Given the description of an element on the screen output the (x, y) to click on. 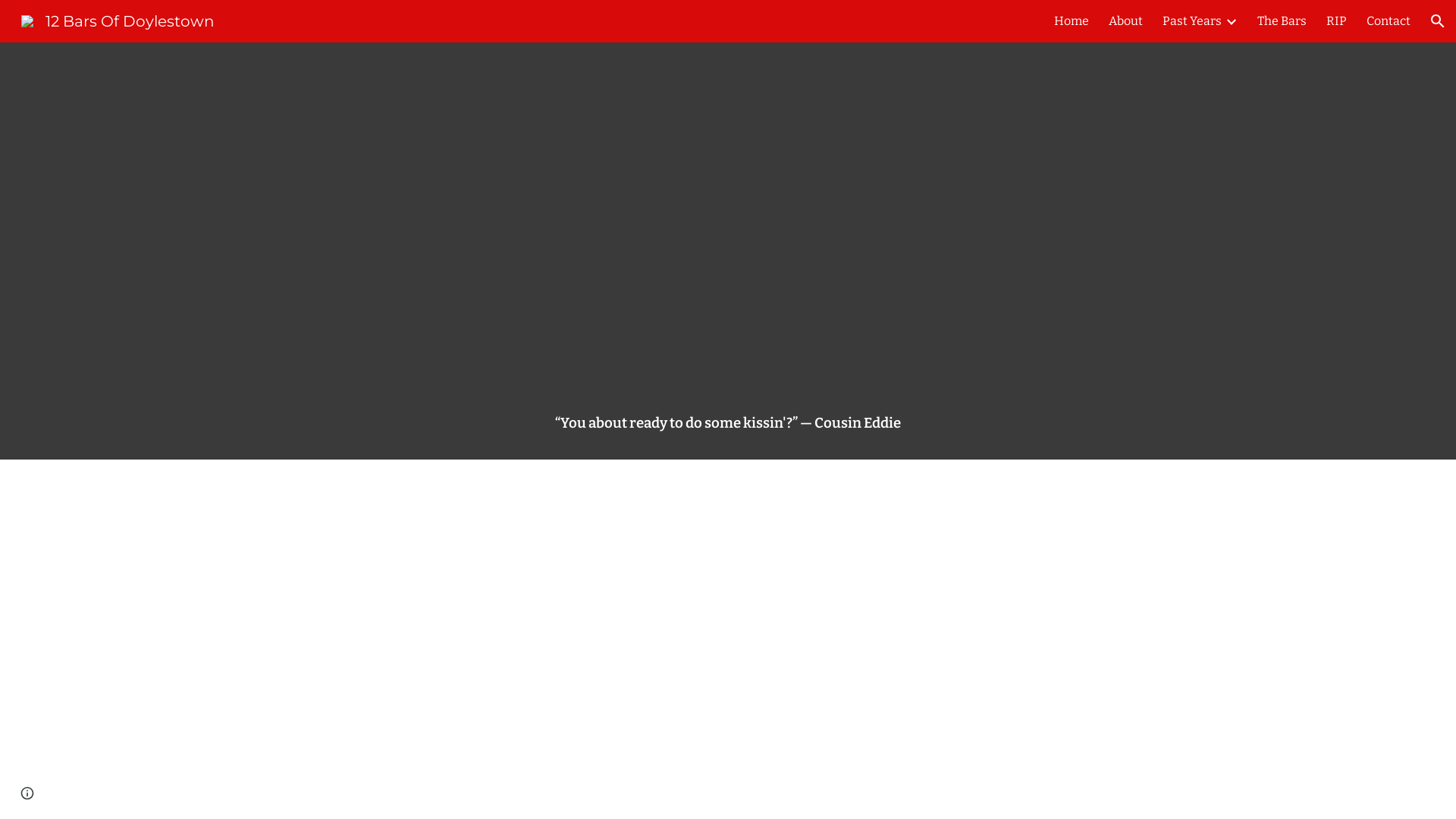
The Bars Element type: text (1281, 20)
Contact Element type: text (1388, 20)
About Element type: text (1125, 20)
Past Years Element type: text (1191, 20)
RIP Element type: text (1336, 20)
12 Bars Of Doylestown Element type: text (117, 19)
Home Element type: text (1071, 20)
Expand/Collapse Element type: hover (1230, 20)
